Given the description of an element on the screen output the (x, y) to click on. 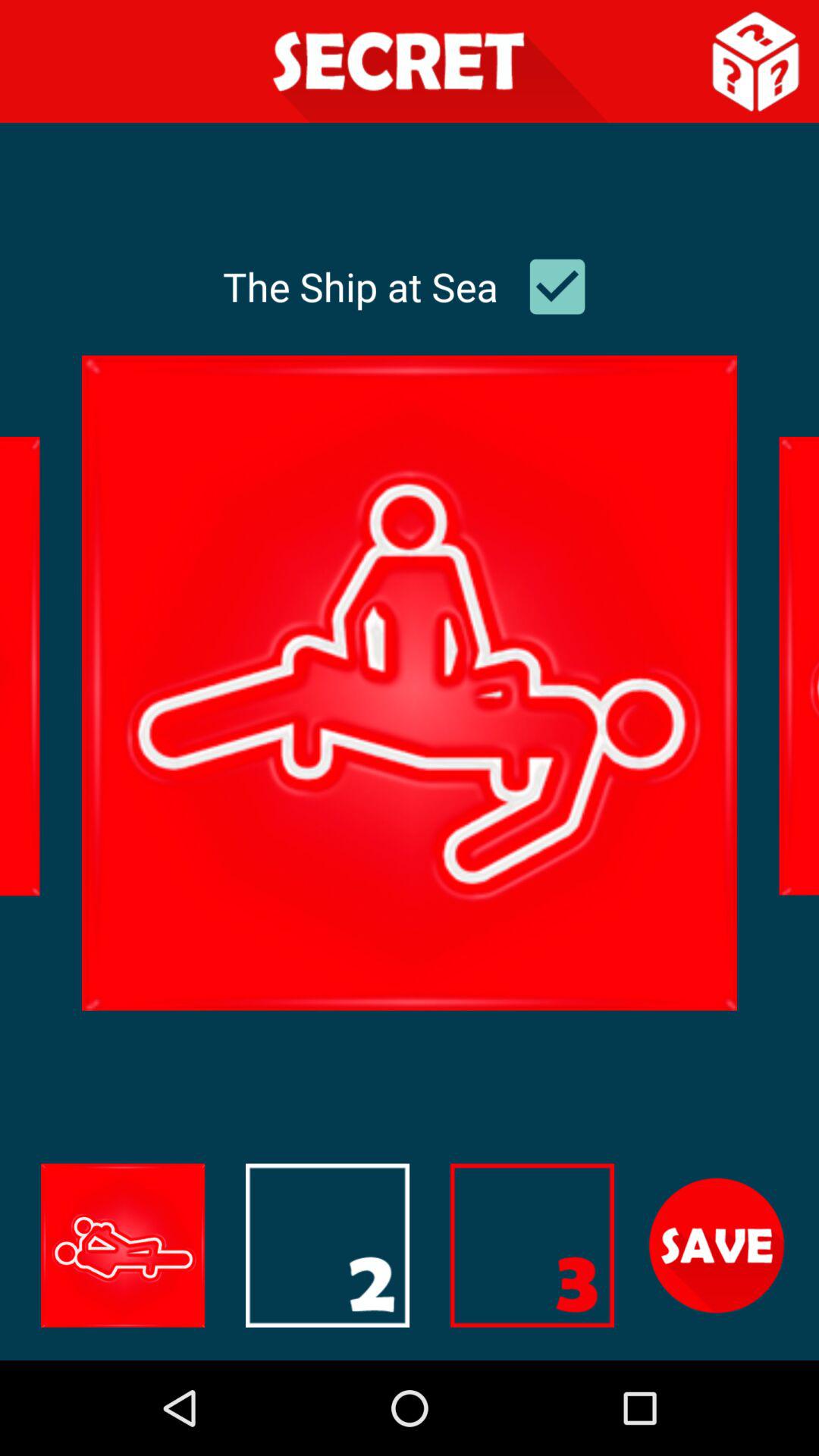
third image (532, 1245)
